Given the description of an element on the screen output the (x, y) to click on. 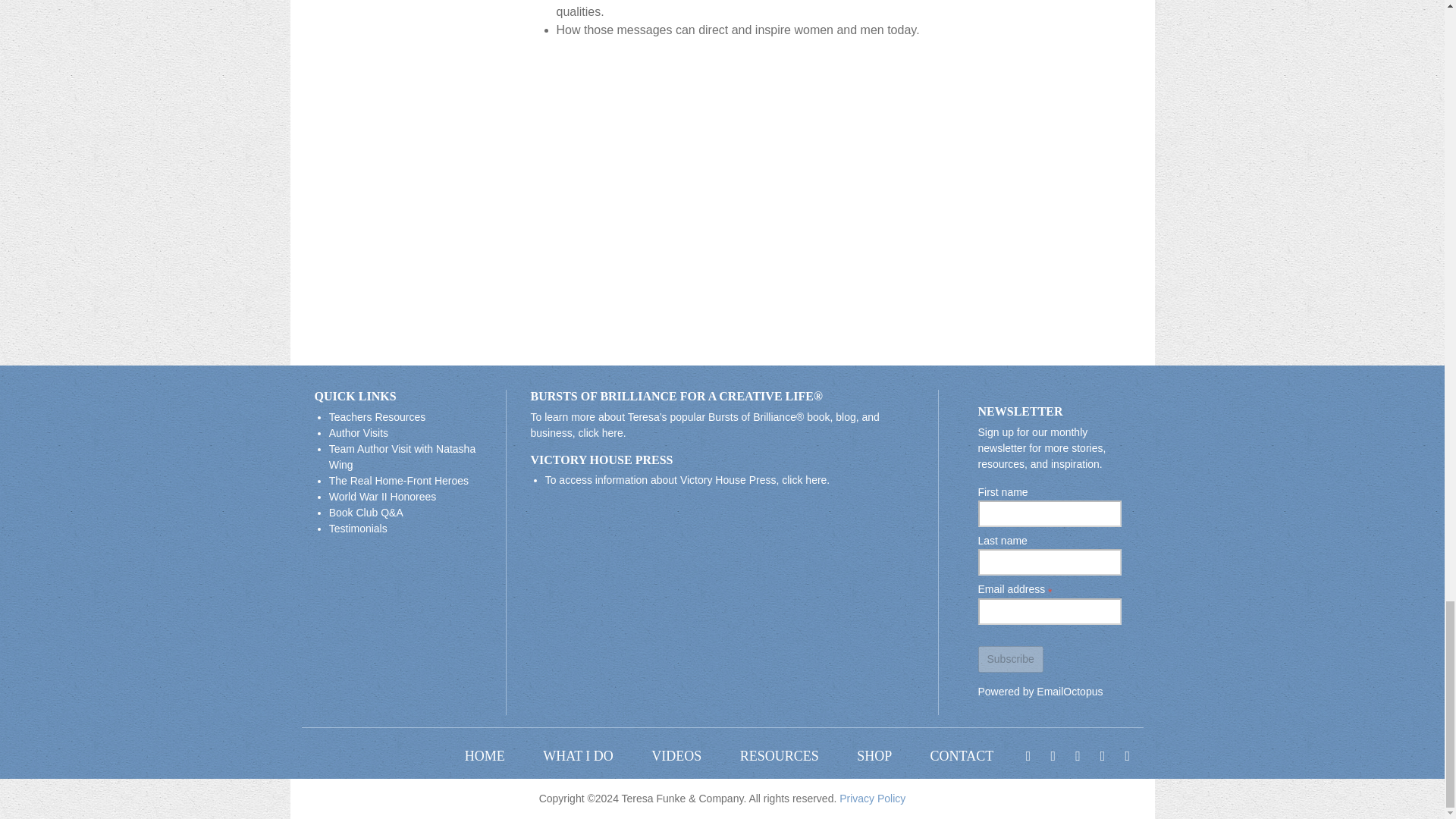
Resources (778, 756)
Teachers Resources (377, 417)
Home (484, 756)
Contact (961, 756)
Shop (874, 756)
What I Do (577, 756)
Videos (675, 756)
